Given the description of an element on the screen output the (x, y) to click on. 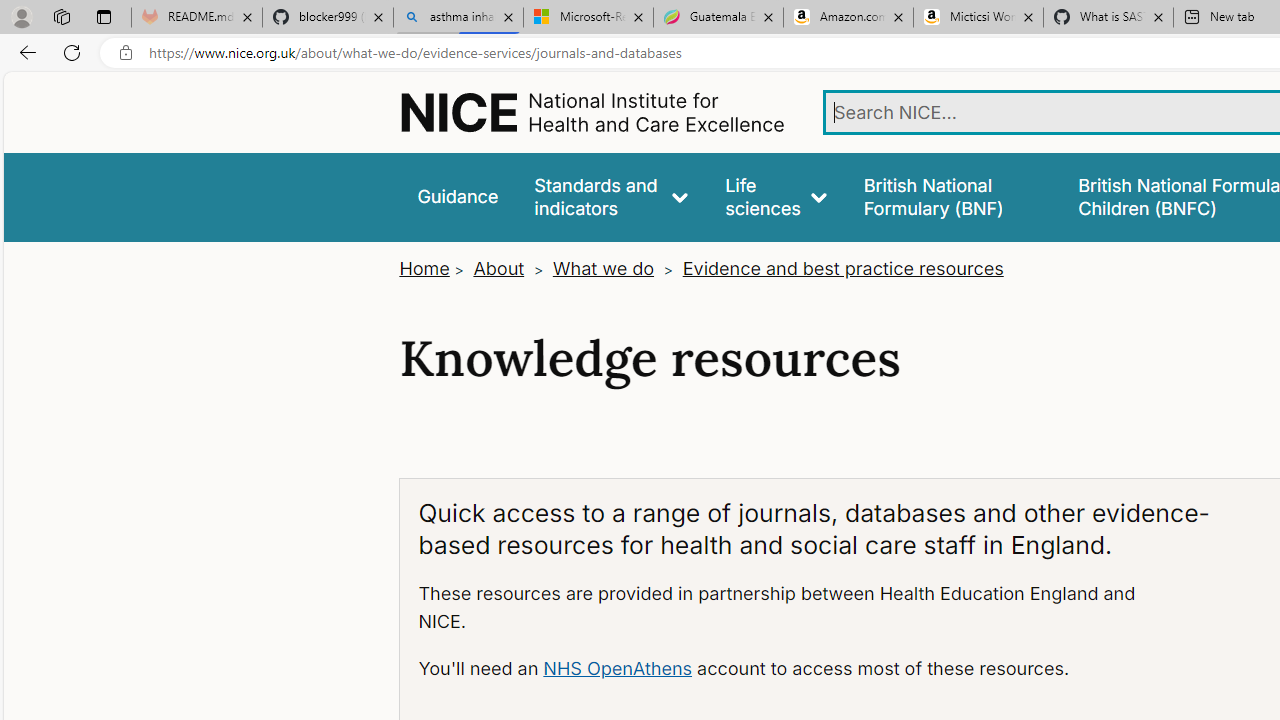
Life sciences (776, 196)
Life sciences (776, 196)
Home> (433, 268)
Guidance (458, 196)
